Given the description of an element on the screen output the (x, y) to click on. 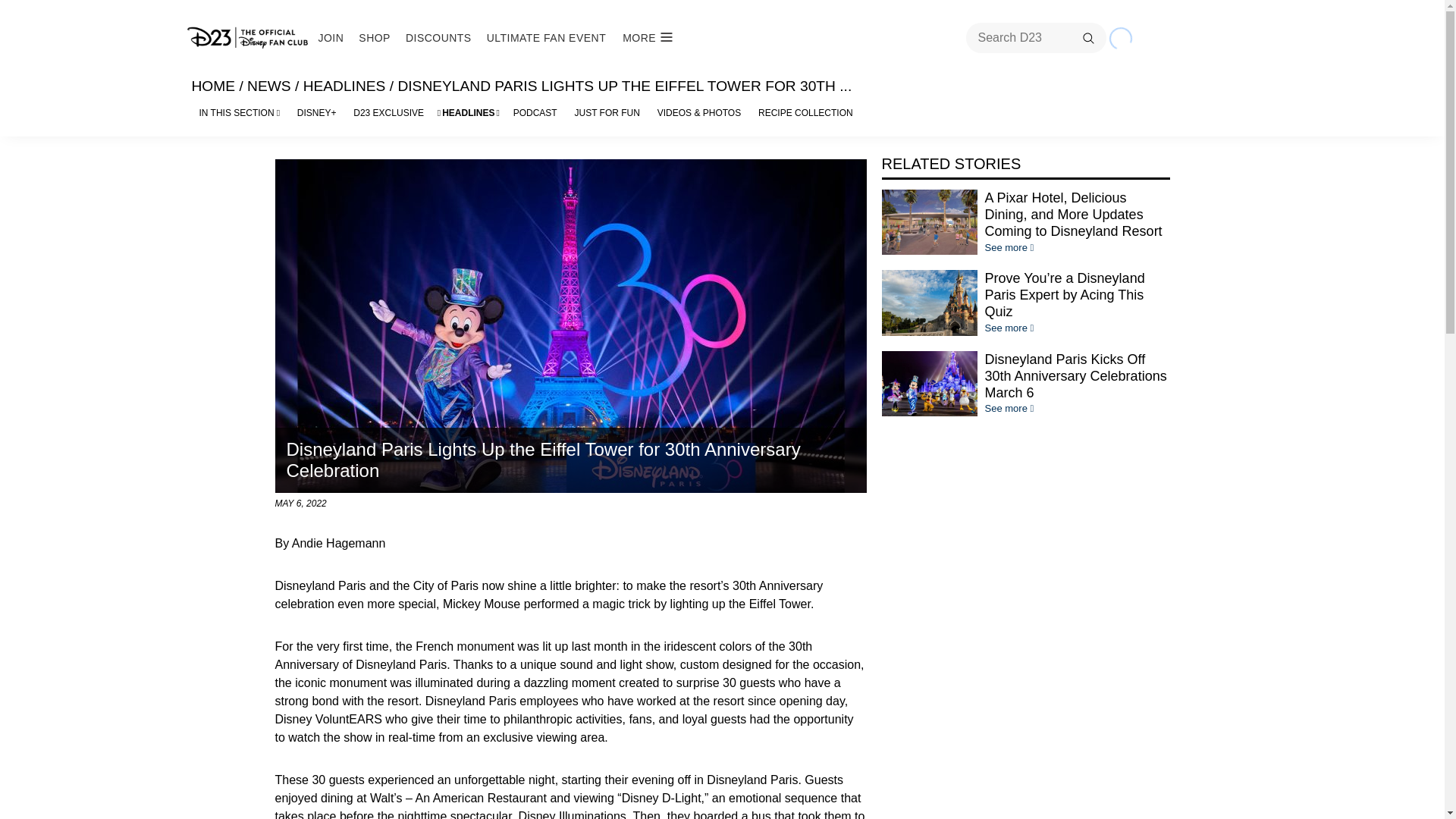
Search for: (1036, 37)
SHOP (374, 37)
DISCOUNTS (438, 37)
JOIN (330, 37)
ULTIMATE FAN EVENT (545, 37)
